Given the description of an element on the screen output the (x, y) to click on. 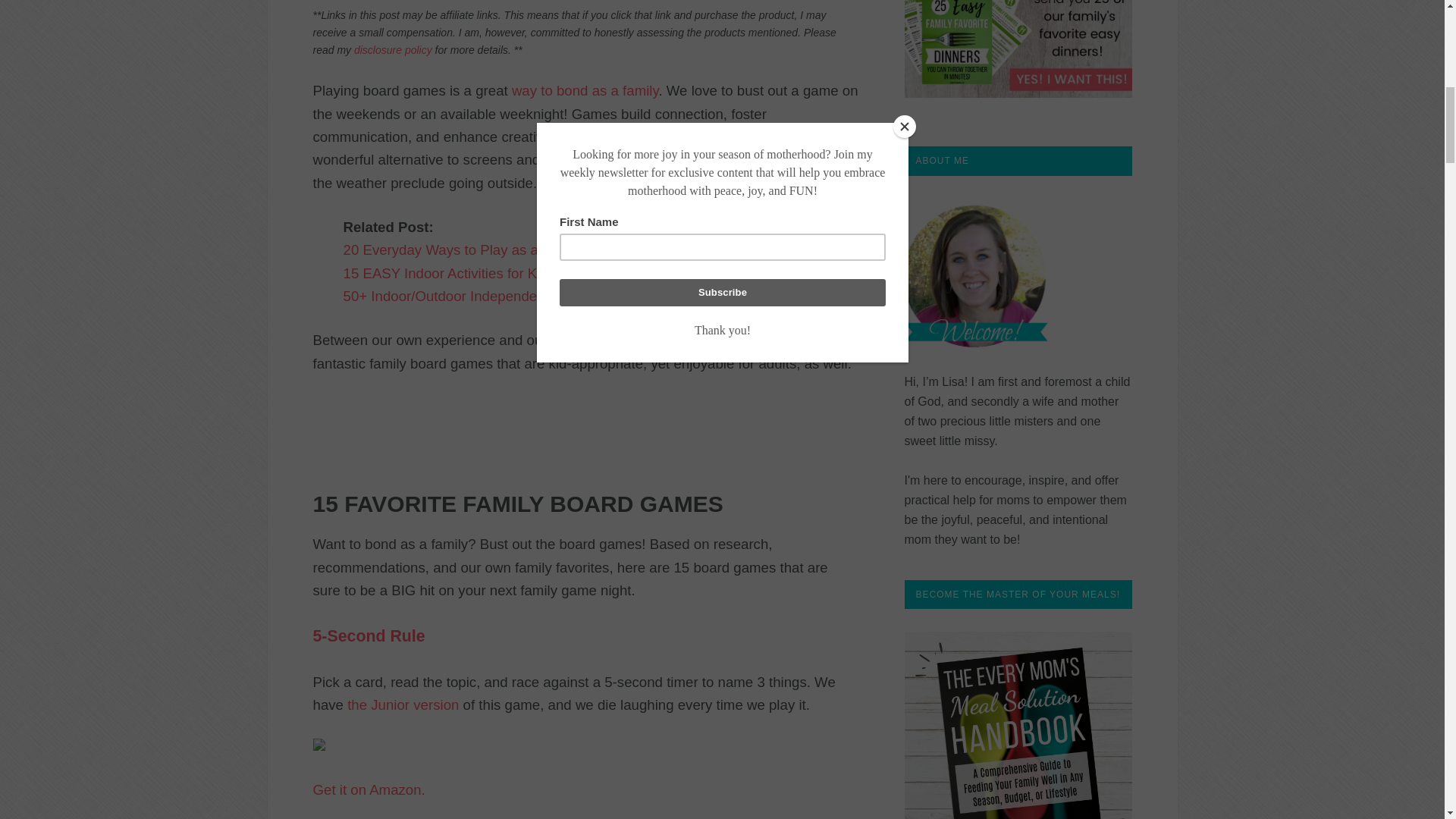
20 Everyday Ways to Play as a Family (462, 249)
the Junior version (402, 704)
5-Second Rule (369, 637)
Get it on Amazon. (369, 790)
way to bond as a family (585, 90)
disclosure policy (392, 50)
